Given the description of an element on the screen output the (x, y) to click on. 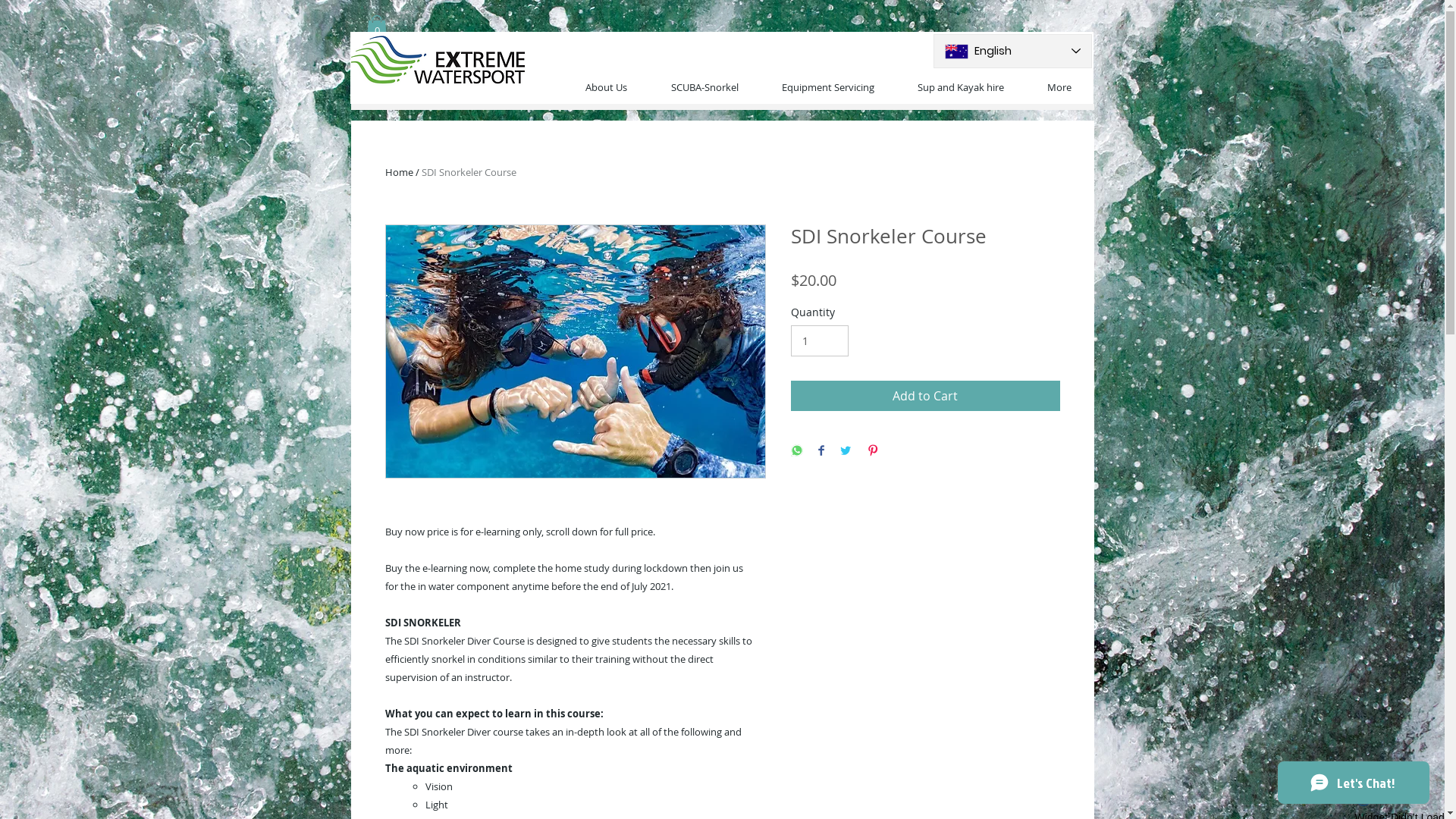
0 Element type: text (375, 27)
Equipment Servicing Element type: text (827, 87)
Site Search Element type: hover (705, 47)
Add to Cart Element type: text (924, 395)
Home Element type: text (399, 171)
Sup and Kayak hire Element type: text (961, 87)
SDI Snorkeler Course Element type: text (468, 171)
